Given the description of an element on the screen output the (x, y) to click on. 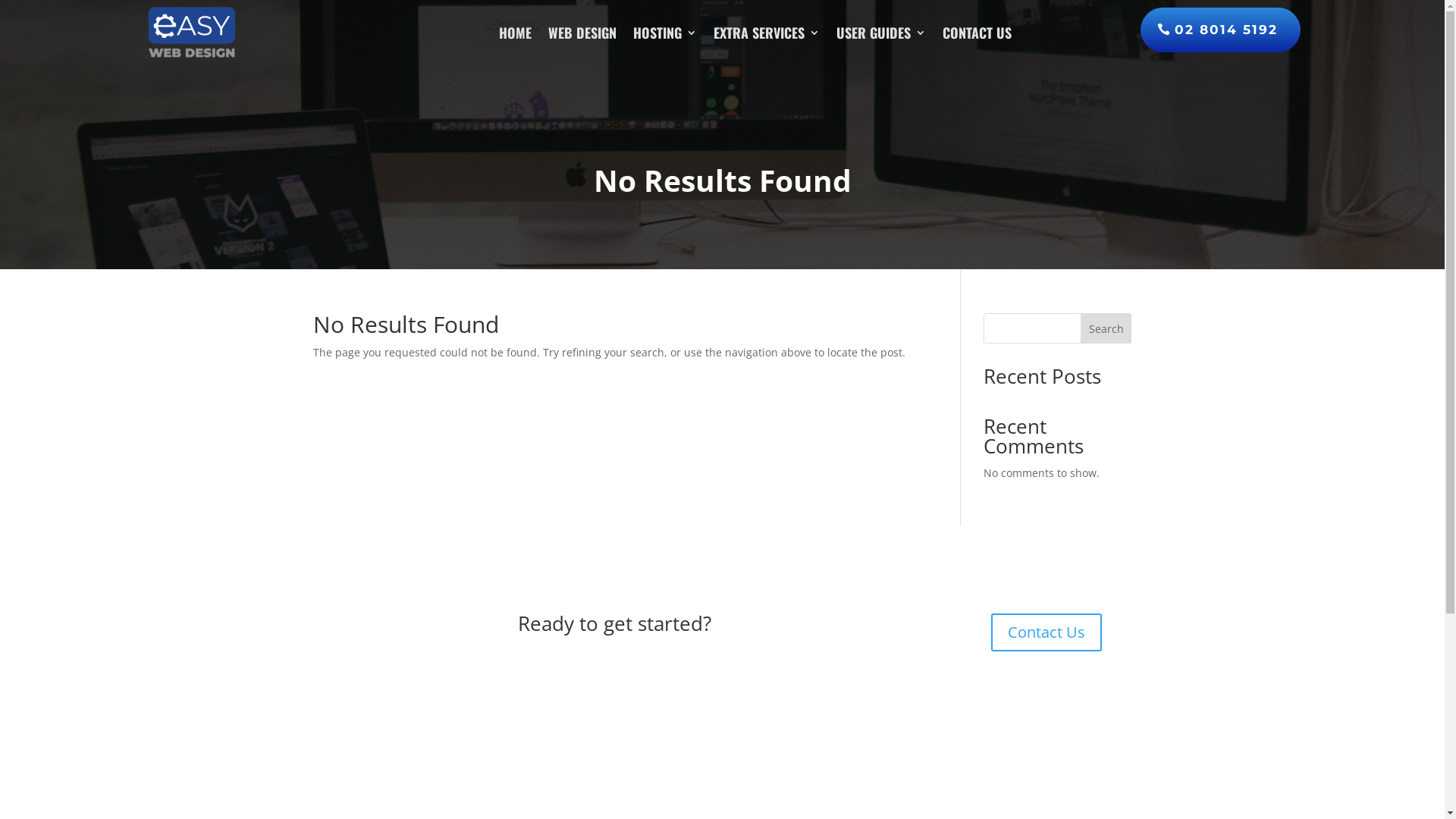
EXTRA SERVICES Element type: text (765, 32)
HOSTING Element type: text (664, 32)
Contact Us Element type: text (1046, 632)
CONTACT US Element type: text (975, 32)
Search Element type: text (1106, 328)
USER GUIDES Element type: text (880, 32)
WEB DESIGN Element type: text (581, 32)
HOME Element type: text (514, 32)
02 8014 5192 Element type: text (1220, 29)
